Given the description of an element on the screen output the (x, y) to click on. 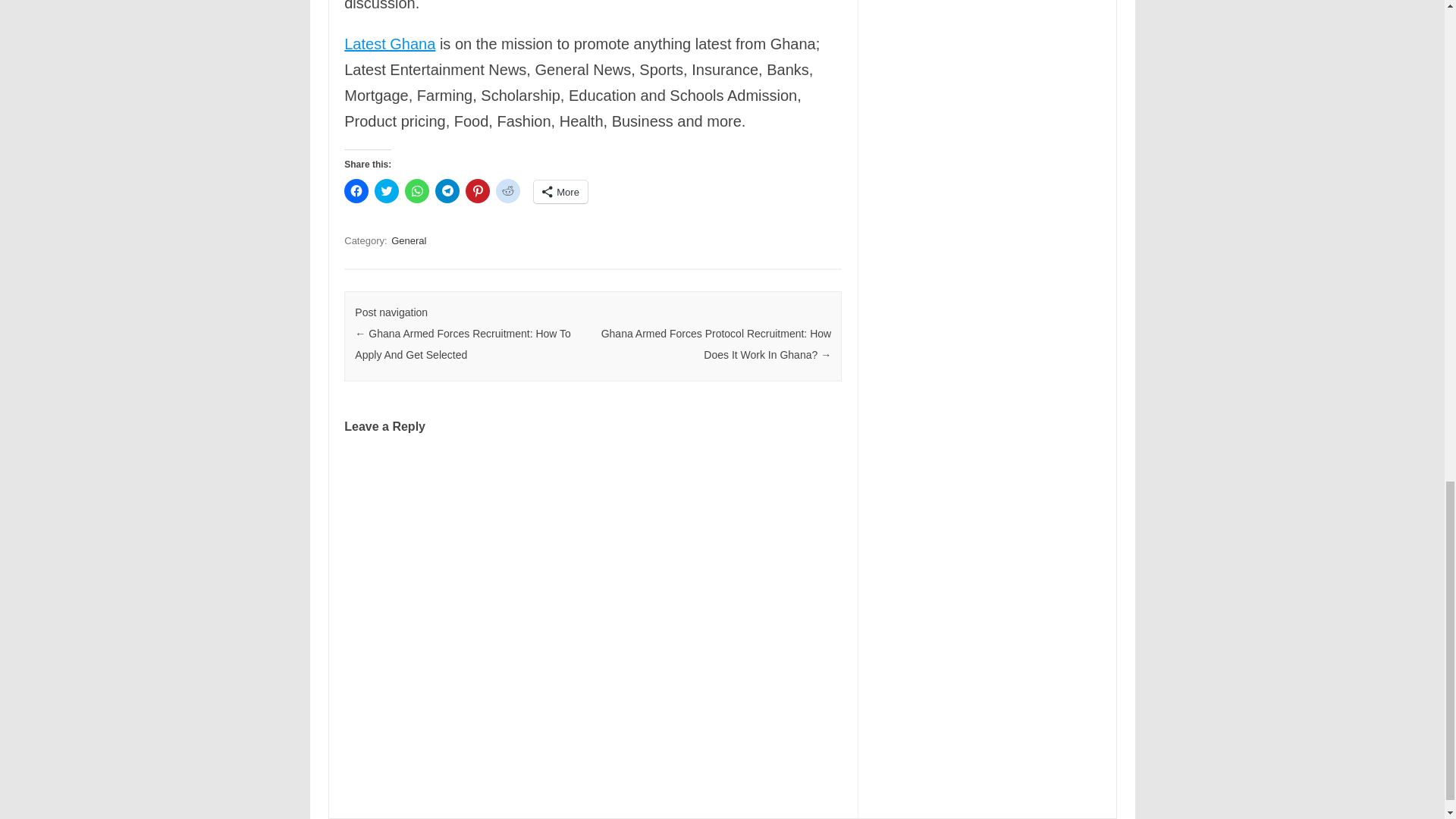
Click to share on Telegram (447, 191)
Click to share on Facebook (355, 191)
Latest Ghana (389, 44)
Click to share on Twitter (386, 191)
More (561, 191)
General (409, 240)
Click to share on Reddit (507, 191)
Click to share on WhatsApp (416, 191)
Click to share on Pinterest (477, 191)
